Given the description of an element on the screen output the (x, y) to click on. 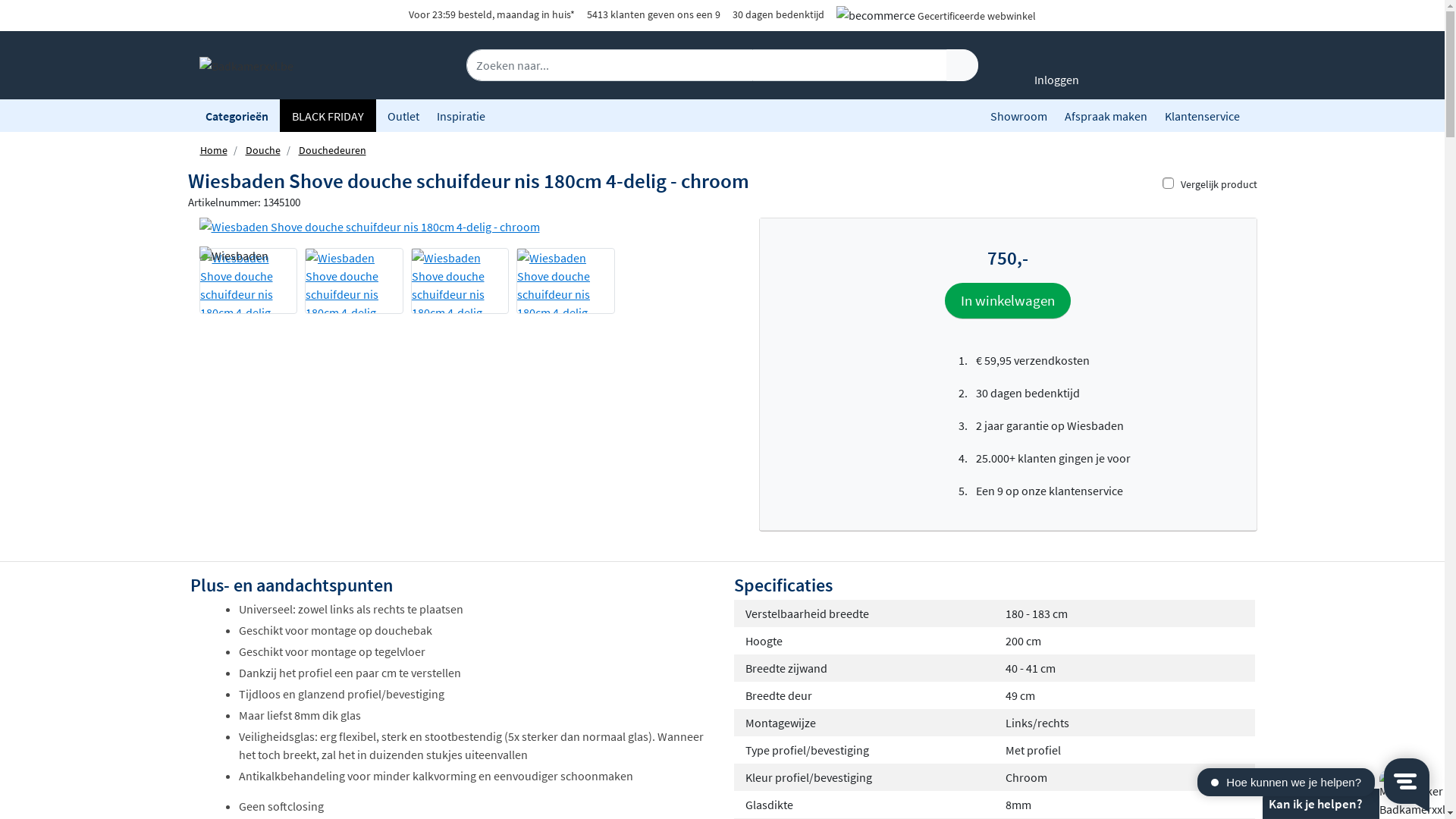
30 dagen bedenktijd Element type: text (778, 14)
Badkamerxxl.be Element type: hover (245, 64)
Home Element type: text (213, 149)
becommerce Element type: hover (875, 15)
Gecertificeerde webwinkel Element type: text (976, 15)
trengo-widget-status Element type: hover (1269, 782)
In winkelwagen Element type: text (1007, 300)
Outlet Element type: text (402, 115)
Wiesbaden Shove douche schuifdeur nis 180cm 4-delig - chroom Element type: hover (565, 280)
Afspraak maken Element type: text (1105, 115)
Wiesbaden Shove douche schuifdeur nis 180cm 4-delig - chroom Element type: hover (248, 280)
Douchedeuren Element type: text (332, 149)
trengo-widget-launcher Element type: hover (1406, 780)
Douche Element type: text (262, 149)
BLACK FRIDAY Element type: text (327, 115)
Wiesbaden Shove douche schuifdeur nis 180cm 4-delig - chroom Element type: hover (459, 280)
Klantenservice Element type: text (1201, 115)
Badkamerxxl.be Element type: hover (245, 65)
Inspiratie Element type: text (460, 115)
Inloggen Element type: text (1056, 68)
Voor 23:59 besteld, maandag in huis* Element type: text (491, 14)
Wiesbaden Element type: hover (232, 255)
Wiesbaden Shove douche schuifdeur nis 180cm 4-delig - chroom Element type: hover (454, 226)
Showroom Element type: text (1018, 115)
5413 klanten geven ons een 9 Element type: text (653, 14)
Wiesbaden Shove douche schuifdeur nis 180cm 4-delig - chroom Element type: hover (353, 280)
